Given the description of an element on the screen output the (x, y) to click on. 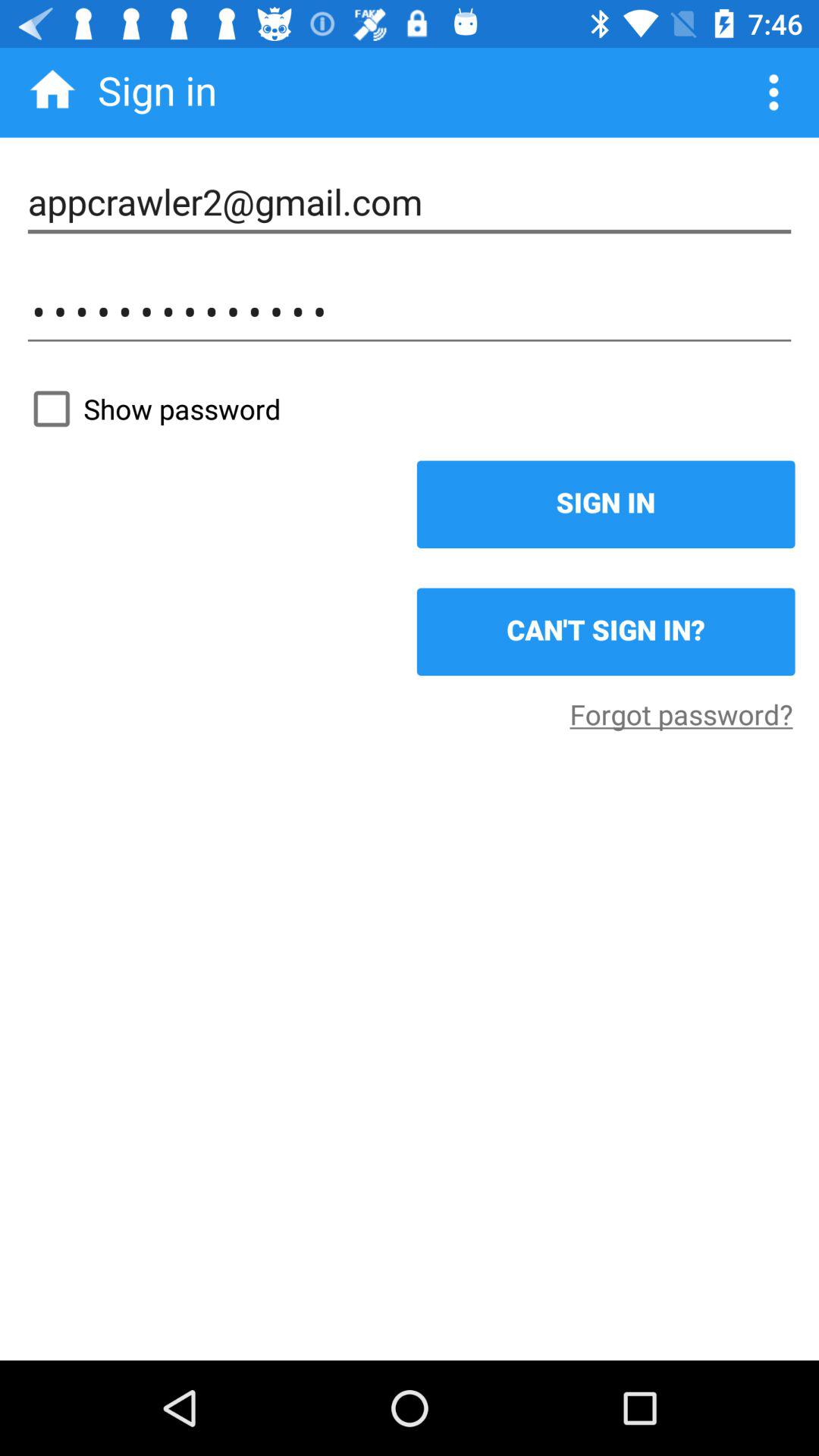
flip until appcrawler2@gmail.com item (409, 202)
